Given the description of an element on the screen output the (x, y) to click on. 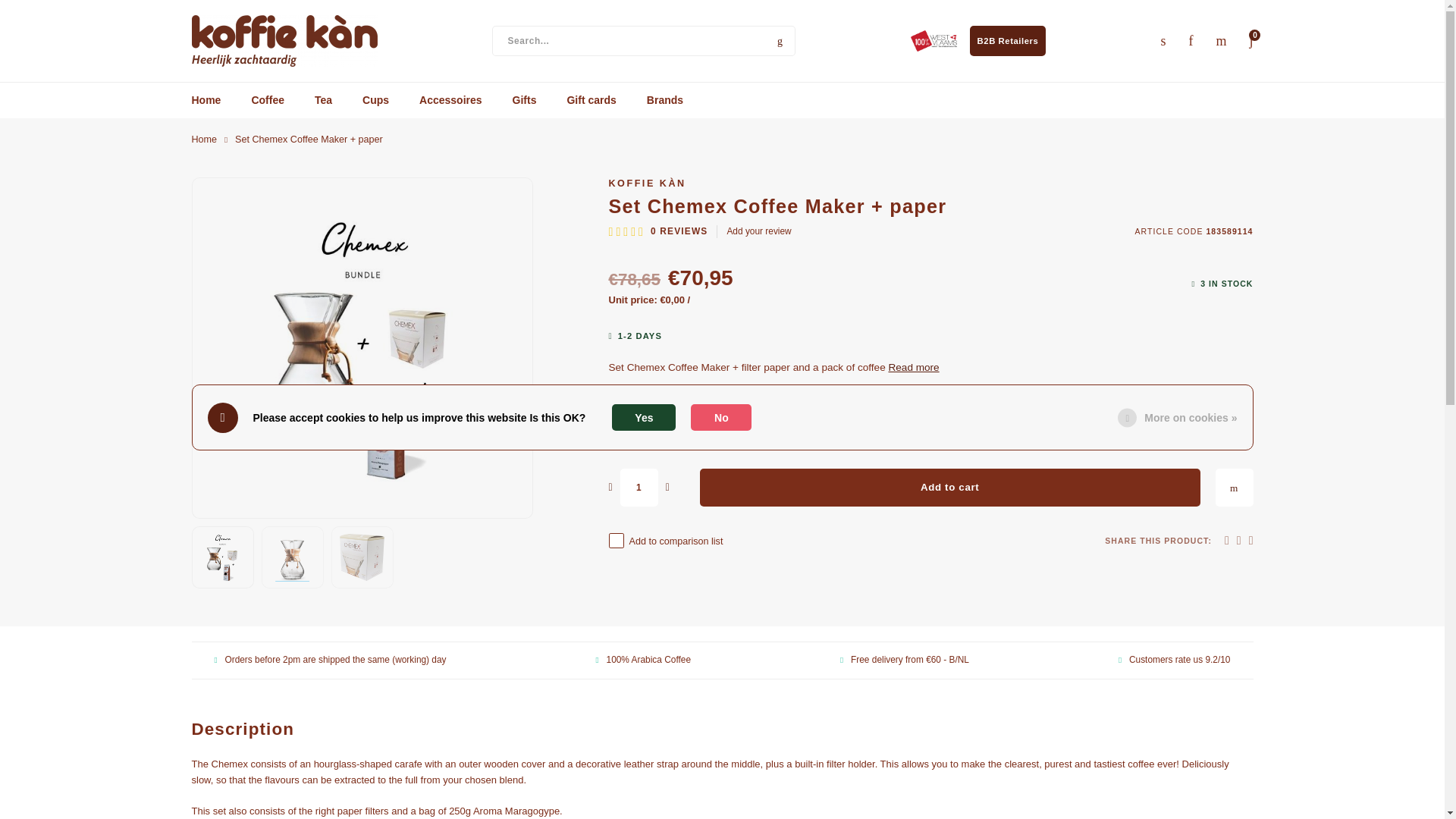
Home (203, 140)
1 (639, 487)
Search (779, 40)
Add to cart (949, 487)
Add to wishlist (1233, 487)
Koffiekan voor B2B Retailers (1007, 40)
Gift cards (590, 99)
Custom (934, 40)
